Given the description of an element on the screen output the (x, y) to click on. 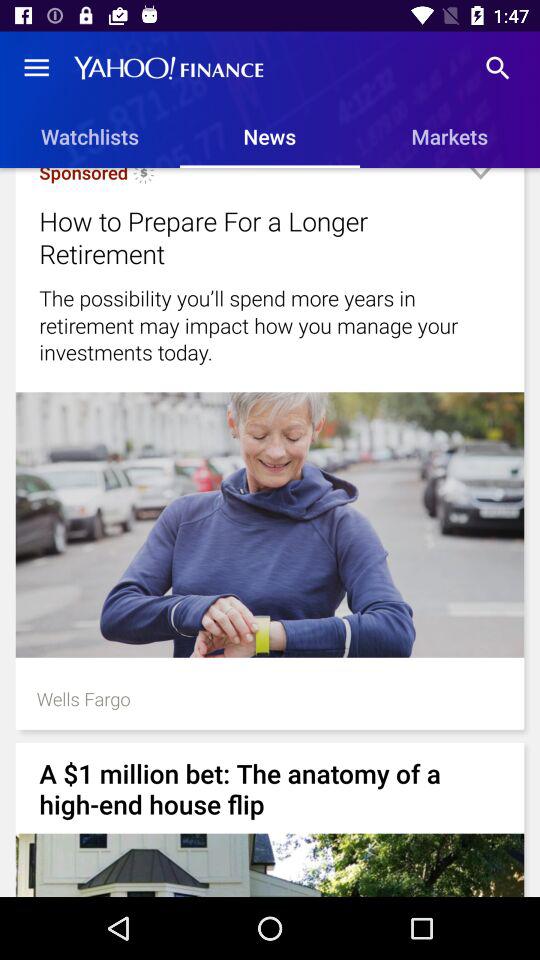
turn on sponsored (83, 175)
